Given the description of an element on the screen output the (x, y) to click on. 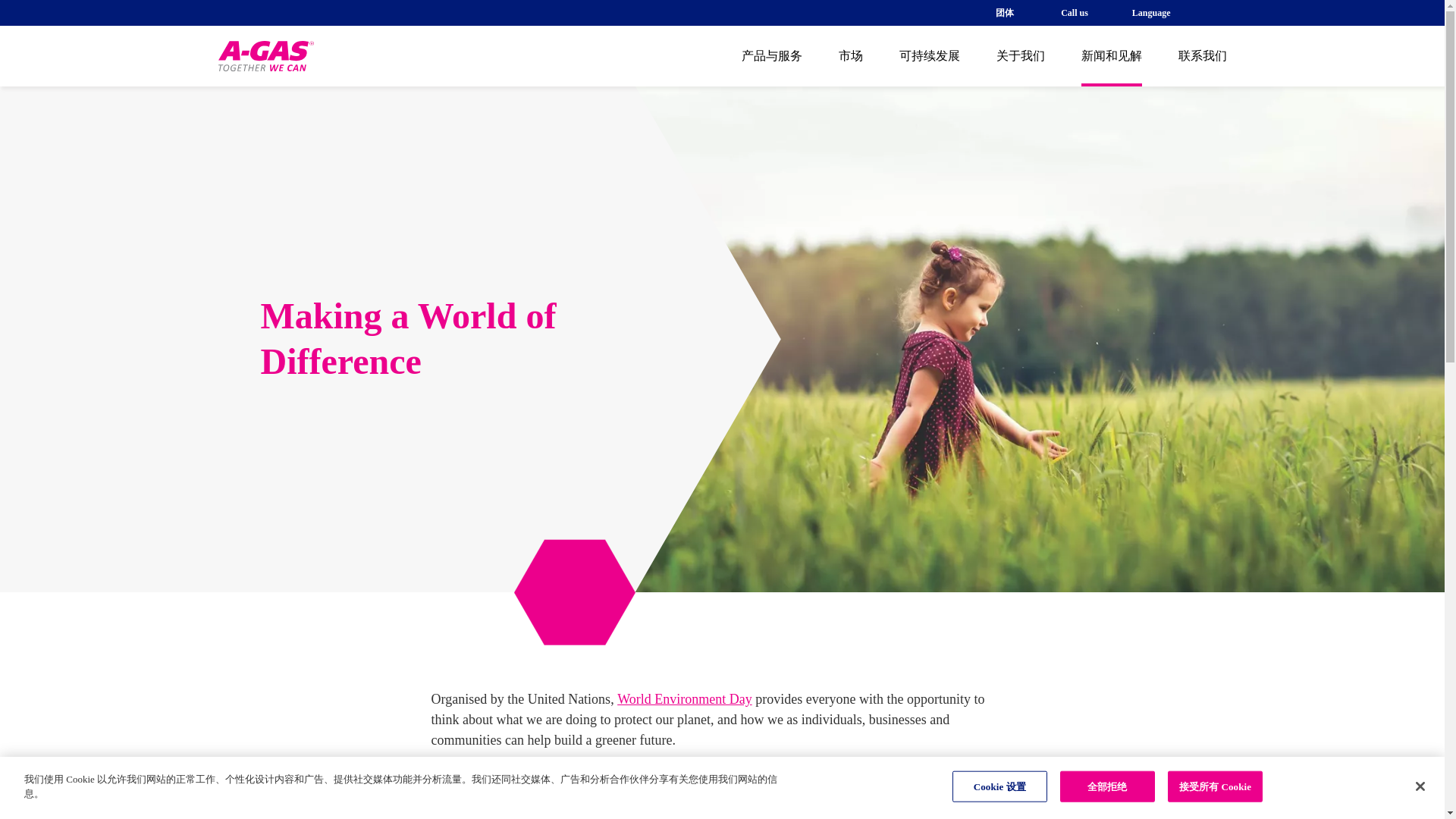
Call us (1072, 12)
Open Search Modal (1220, 12)
World Environment Day (684, 698)
Language (1158, 12)
